Given the description of an element on the screen output the (x, y) to click on. 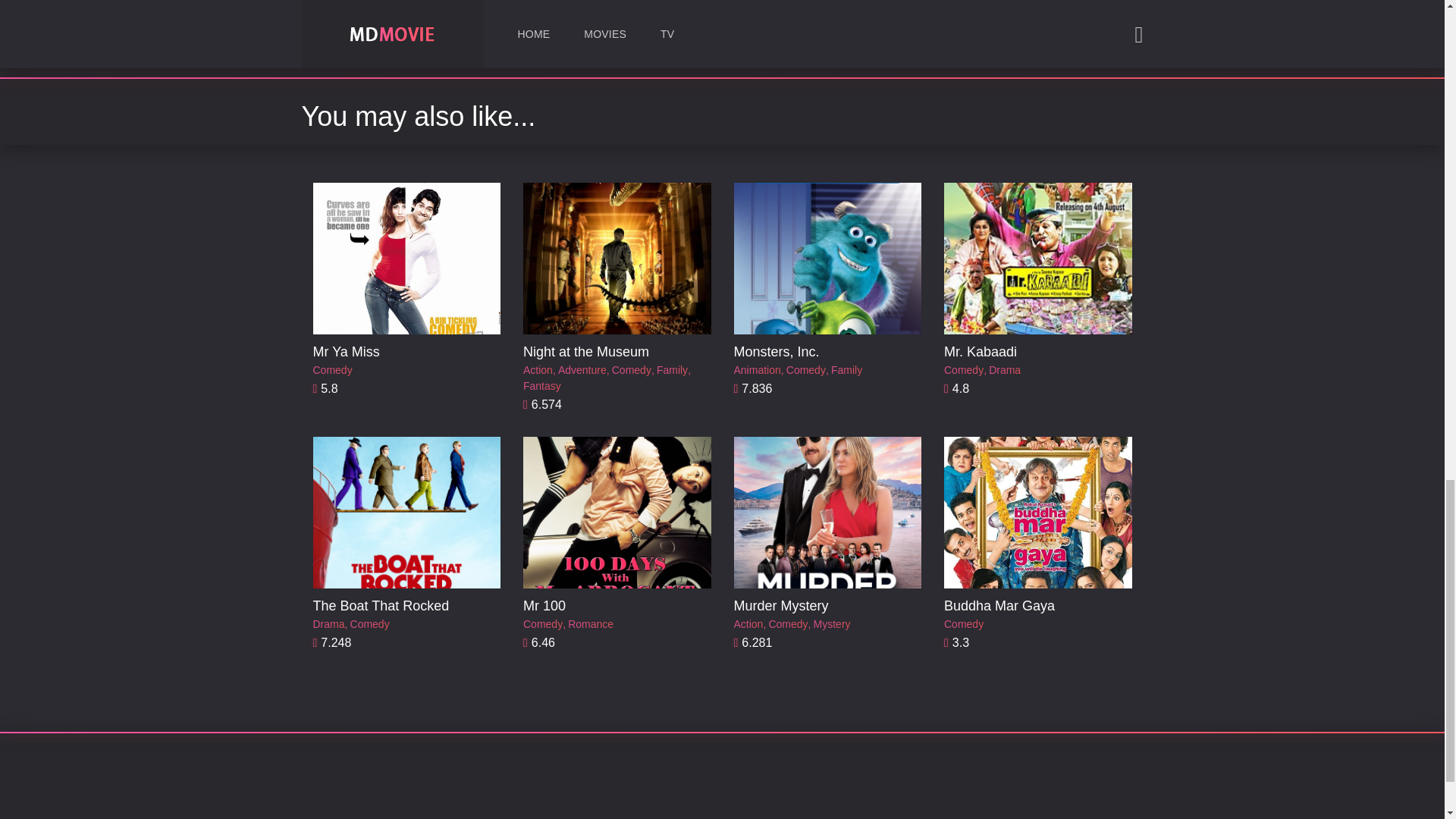
Drama (328, 624)
Fantasy (541, 385)
The Boat That Rocked (380, 605)
Mr Ya Miss (345, 351)
Comedy (542, 624)
Comedy (805, 370)
Animation (756, 370)
Murder Mystery (780, 605)
Drama (1004, 370)
Mr 100 (544, 605)
Family (671, 370)
Comedy (332, 370)
Night at the Museum (585, 351)
Adventure (582, 370)
Comedy (370, 624)
